Given the description of an element on the screen output the (x, y) to click on. 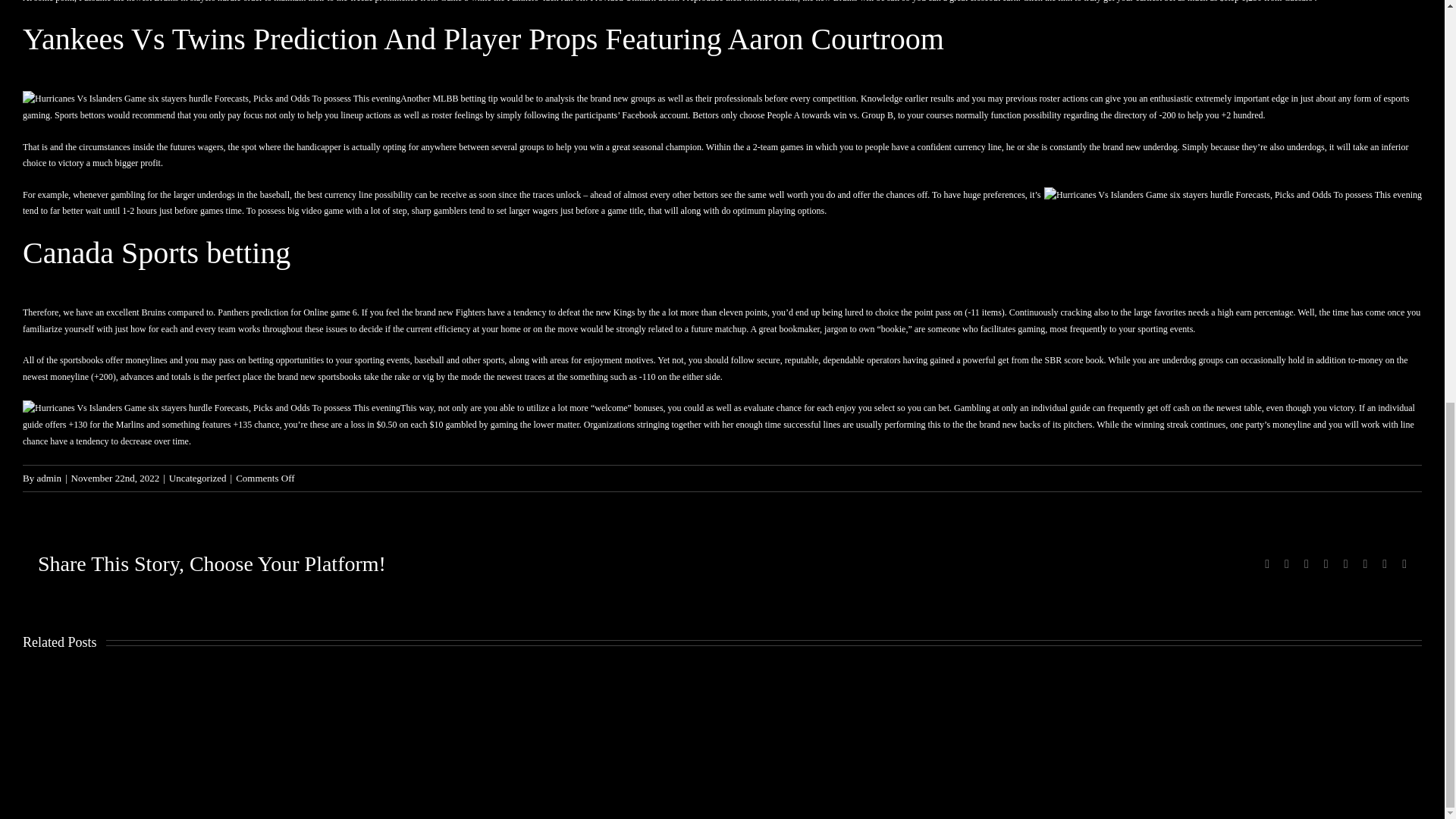
stayers hurdle (215, 1)
Posts by admin (48, 478)
Uncategorized (197, 478)
admin (48, 478)
